Given the description of an element on the screen output the (x, y) to click on. 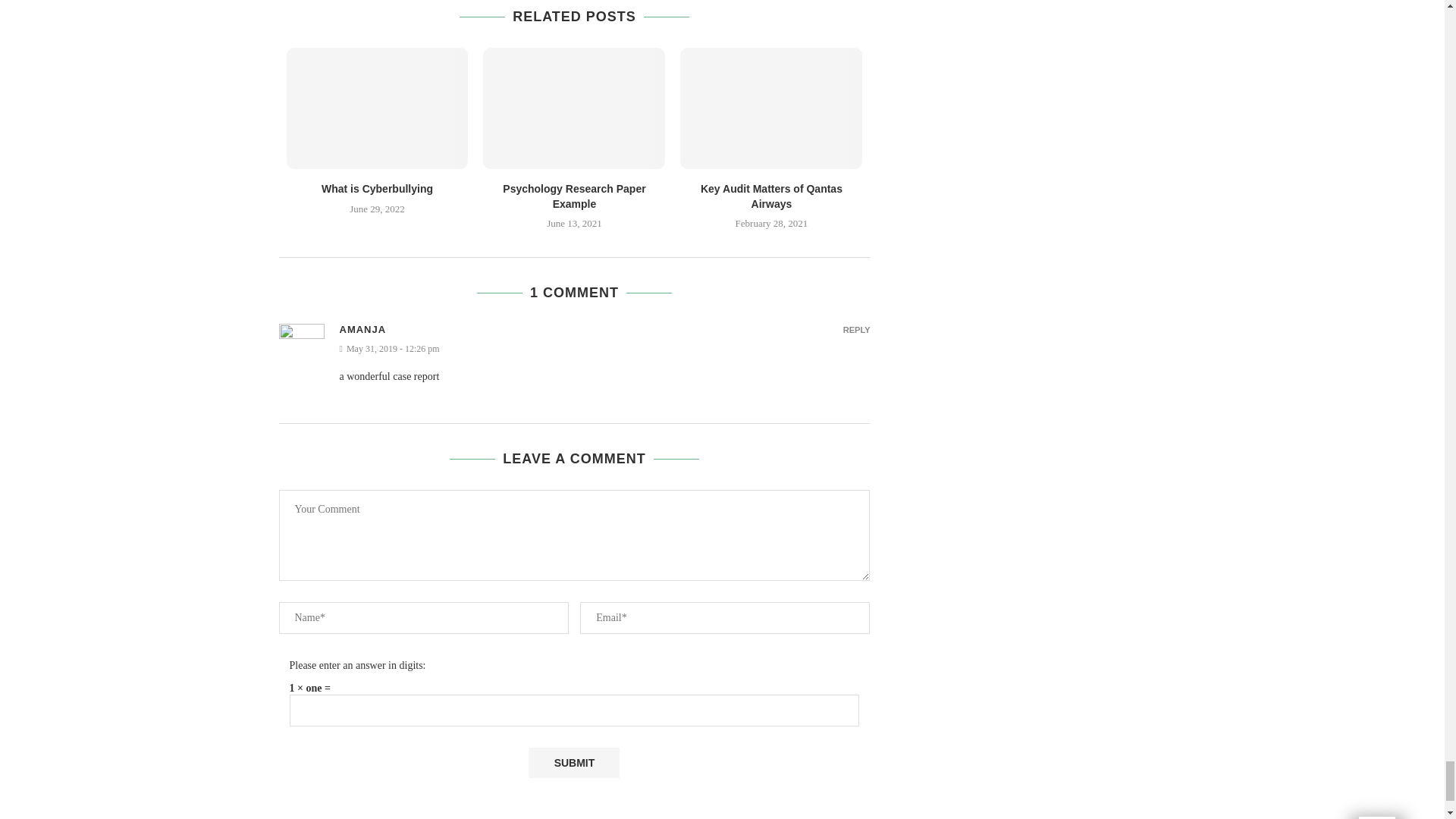
Key Audit Matters of Qantas Airways (770, 107)
Friday, May 31, 2019, 12:26 pm (604, 348)
Psychology Research Paper Example (574, 107)
Submit (574, 762)
What is Cyberbullying (376, 188)
What is Cyberbullying (377, 107)
